Given the description of an element on the screen output the (x, y) to click on. 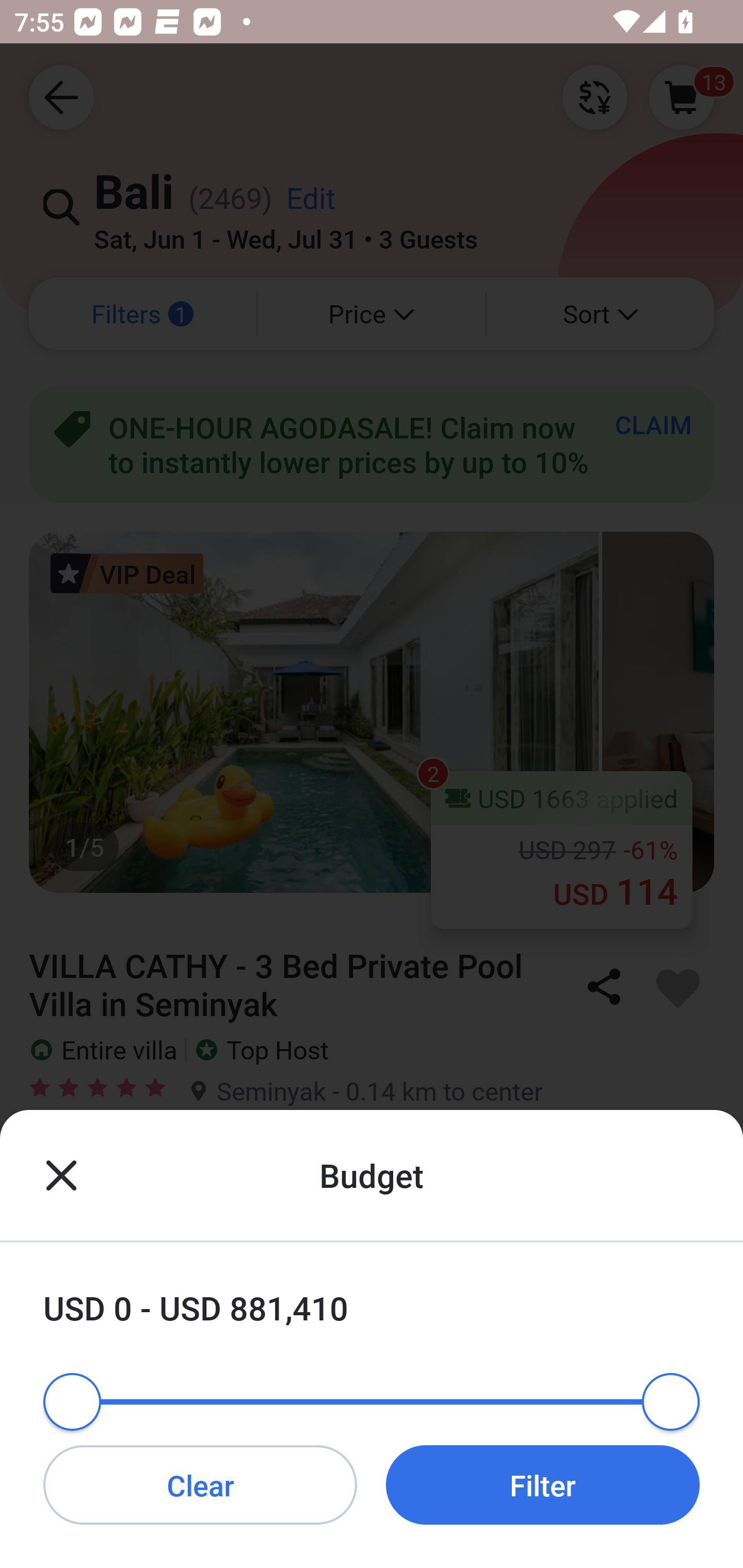
2 rewards applied USD 1663 off (371, 1298)
Clear (200, 1484)
Filter (542, 1484)
